Given the description of an element on the screen output the (x, y) to click on. 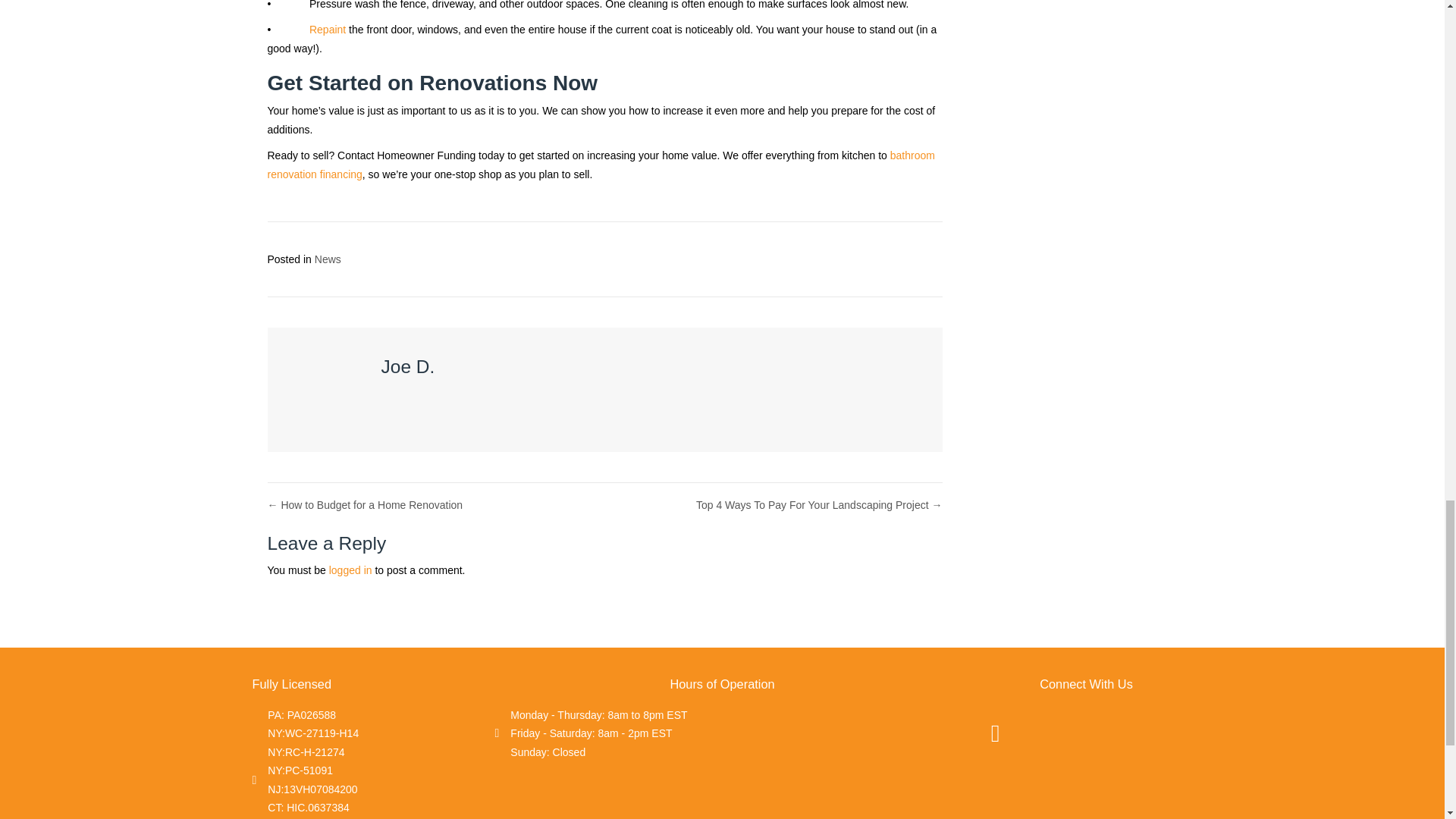
guild-quality-icon (1116, 729)
